Given the description of an element on the screen output the (x, y) to click on. 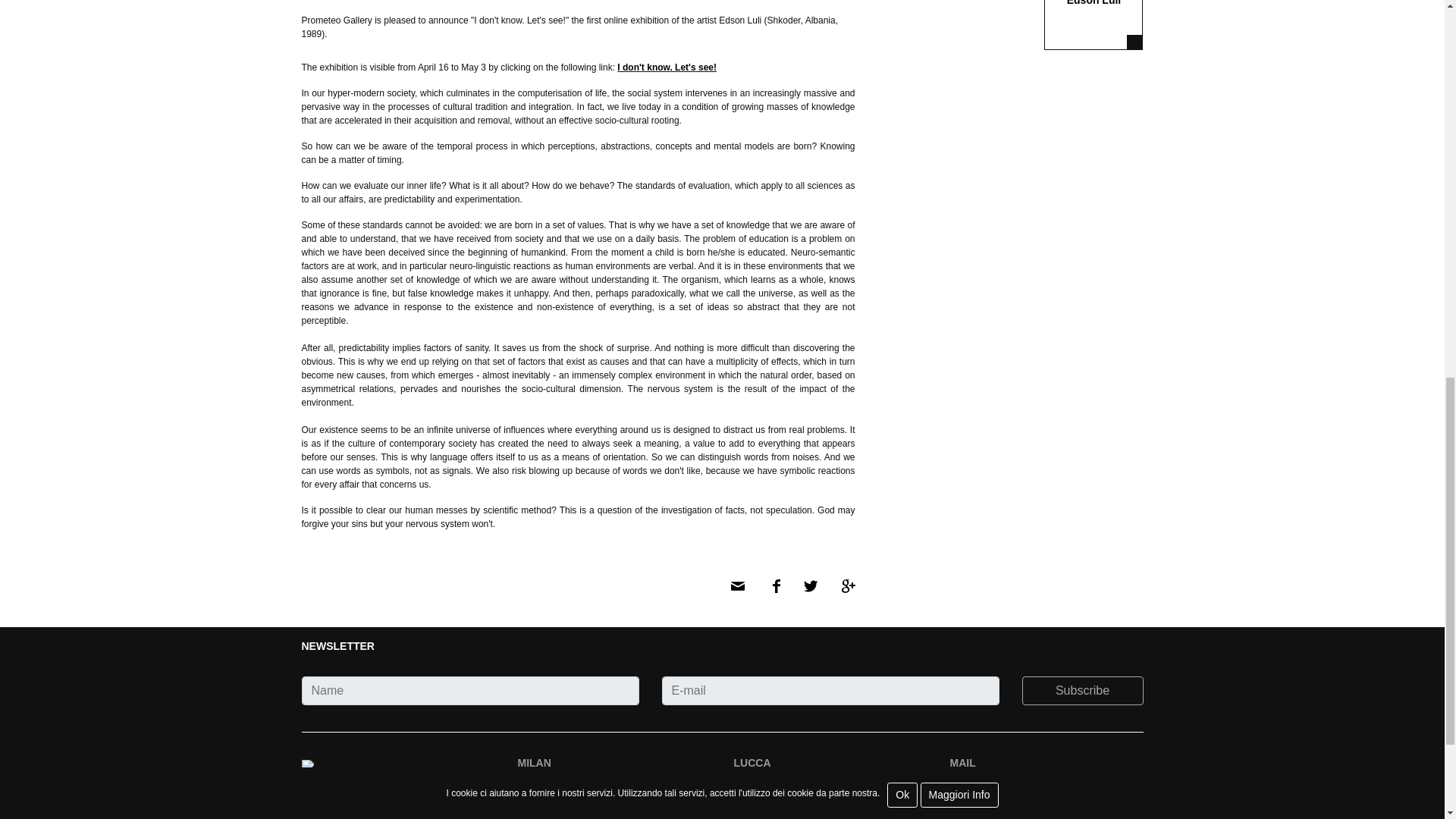
I don't know. Let's see! (666, 67)
Subscribe (1082, 690)
Edson Luli (1092, 24)
Subscribe (1082, 690)
